Given the description of an element on the screen output the (x, y) to click on. 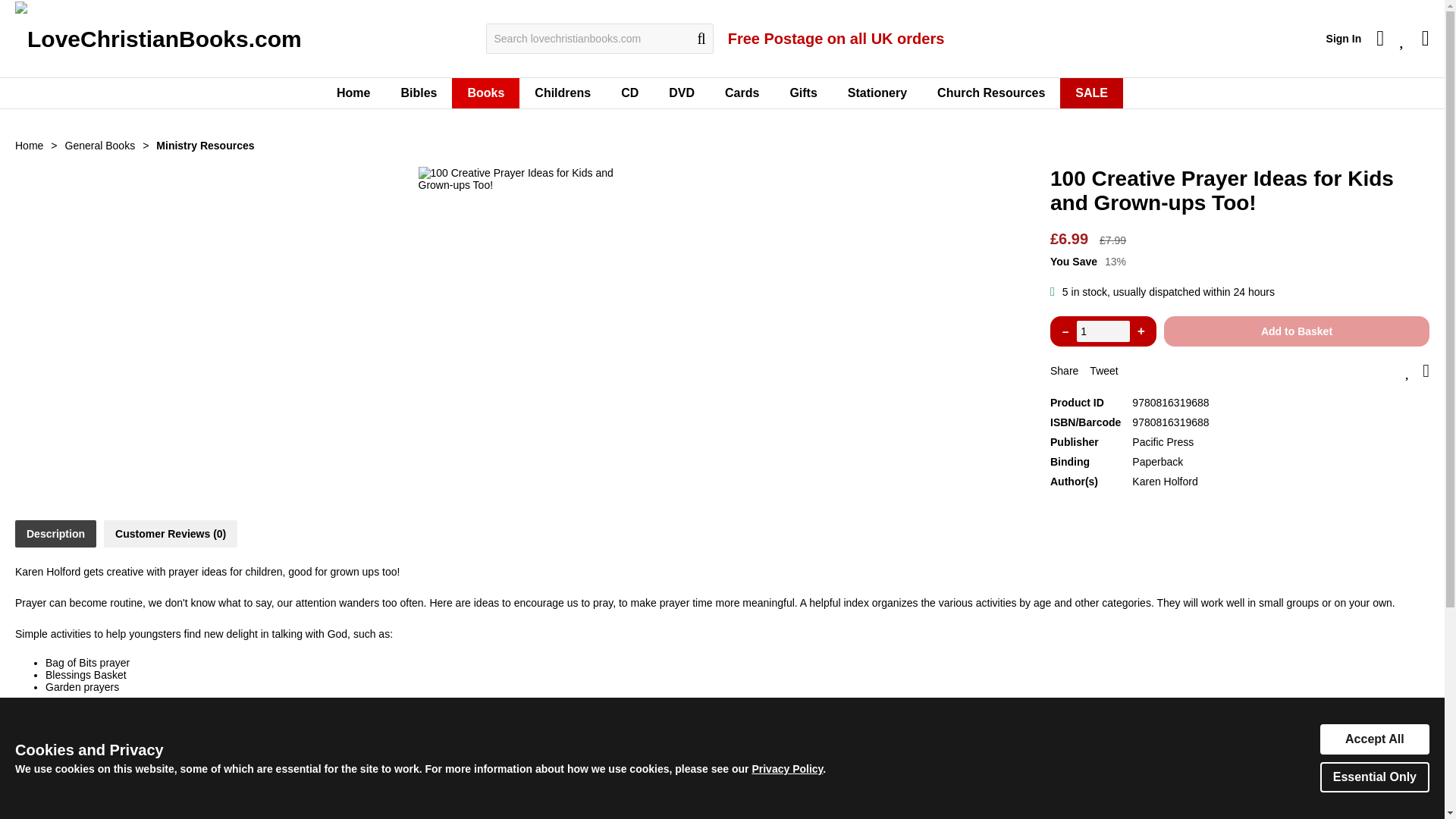
1 (1103, 331)
Home (353, 92)
Buy all the resources for your church here (990, 92)
Christian Gifts for all Occasions (802, 92)
Individual Christian Greetings Cards, with Scripture Verses (742, 92)
Sign In (1343, 38)
Christian Films for all Ages on DVD (681, 92)
Christian Books from Popular Authors (485, 92)
Books (485, 92)
Bibles (418, 92)
